Given the description of an element on the screen output the (x, y) to click on. 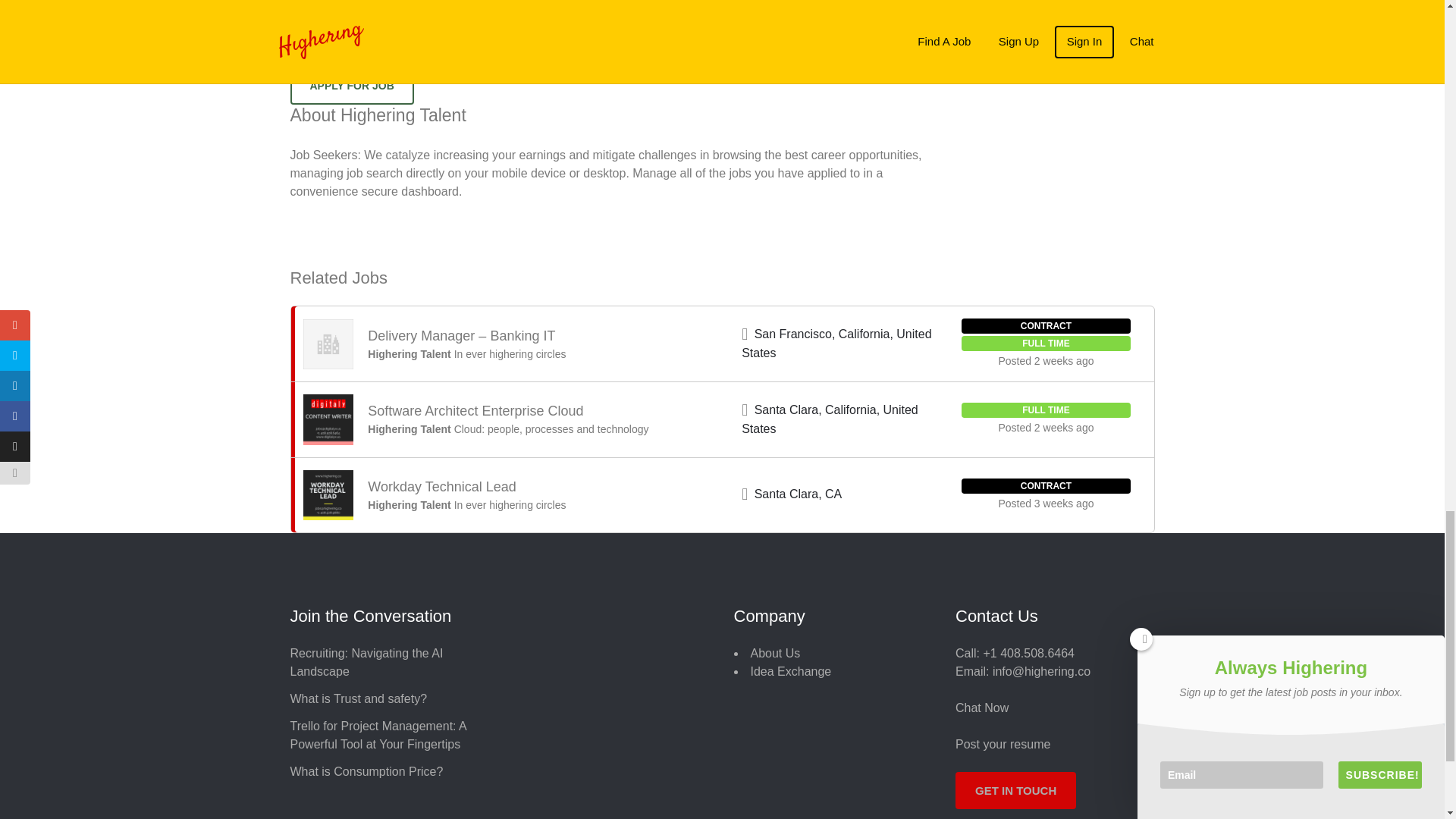
What is Trust and safety? (357, 698)
Post your resume (1002, 744)
Santa Clara, California, United States (829, 418)
About Us (775, 653)
About Us (775, 653)
San Francisco, California, United States (836, 343)
GET IN TOUCH (1015, 790)
Idea Exchange (791, 671)
Chat Now (982, 707)
Apply for job (351, 85)
Recruiting: Navigating the AI Landscape (365, 662)
What is Consumption Price? (365, 771)
Santa Clara, CA (798, 493)
Idea Exchange (791, 671)
